Given the description of an element on the screen output the (x, y) to click on. 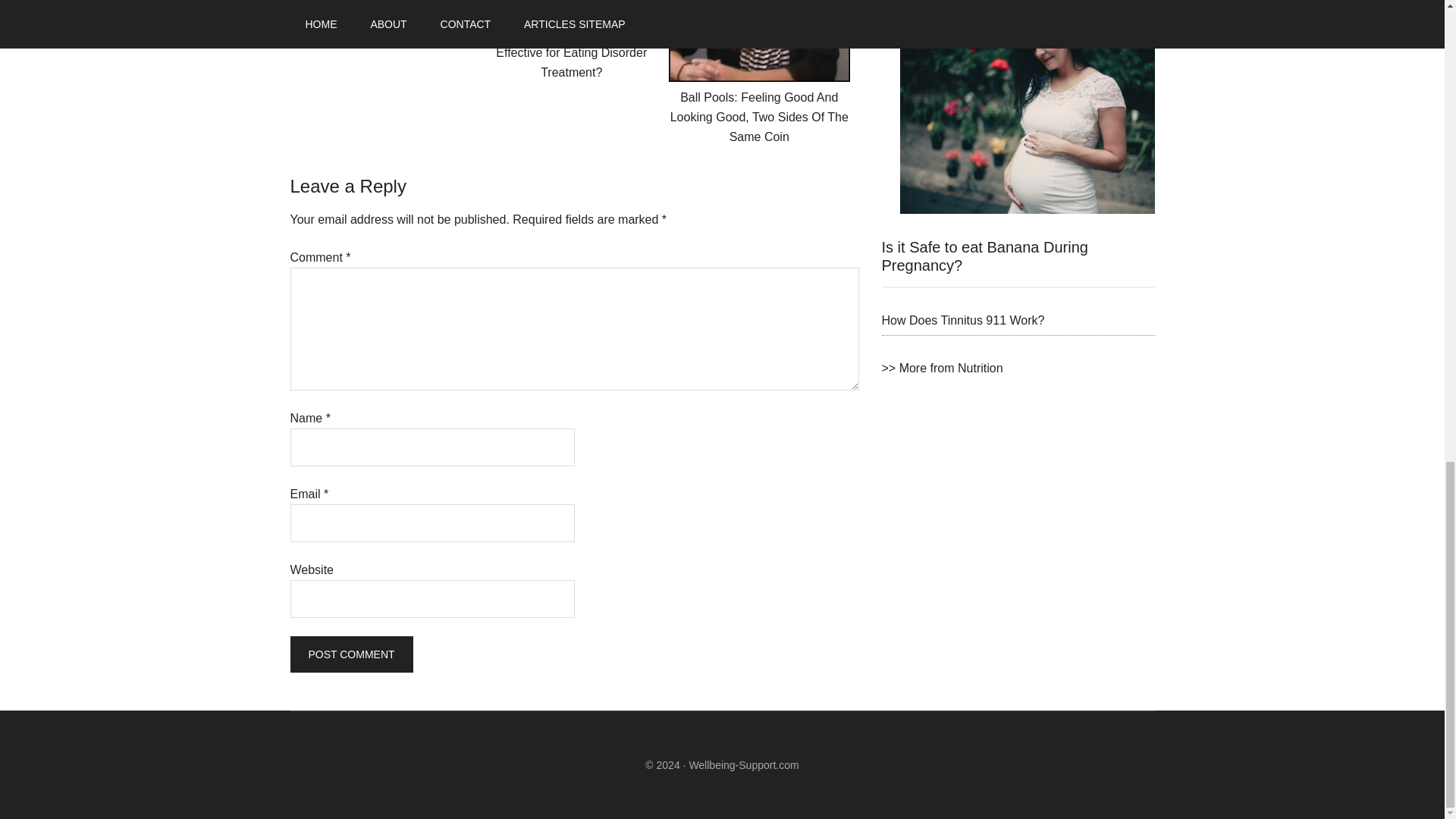
Nutrition (941, 367)
Post Comment (350, 653)
Post Comment (350, 653)
Is it Safe to eat Banana During Pregnancy? (983, 256)
How Does Tinnitus 911 Work? (961, 319)
Wellbeing-Support.com (742, 764)
